Given the description of an element on the screen output the (x, y) to click on. 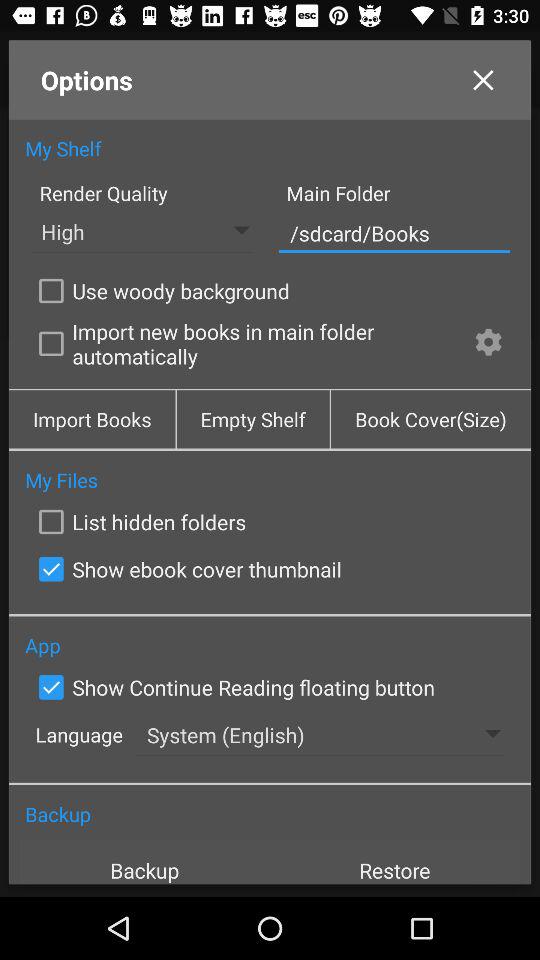
launch the app above language (232, 687)
